Given the description of an element on the screen output the (x, y) to click on. 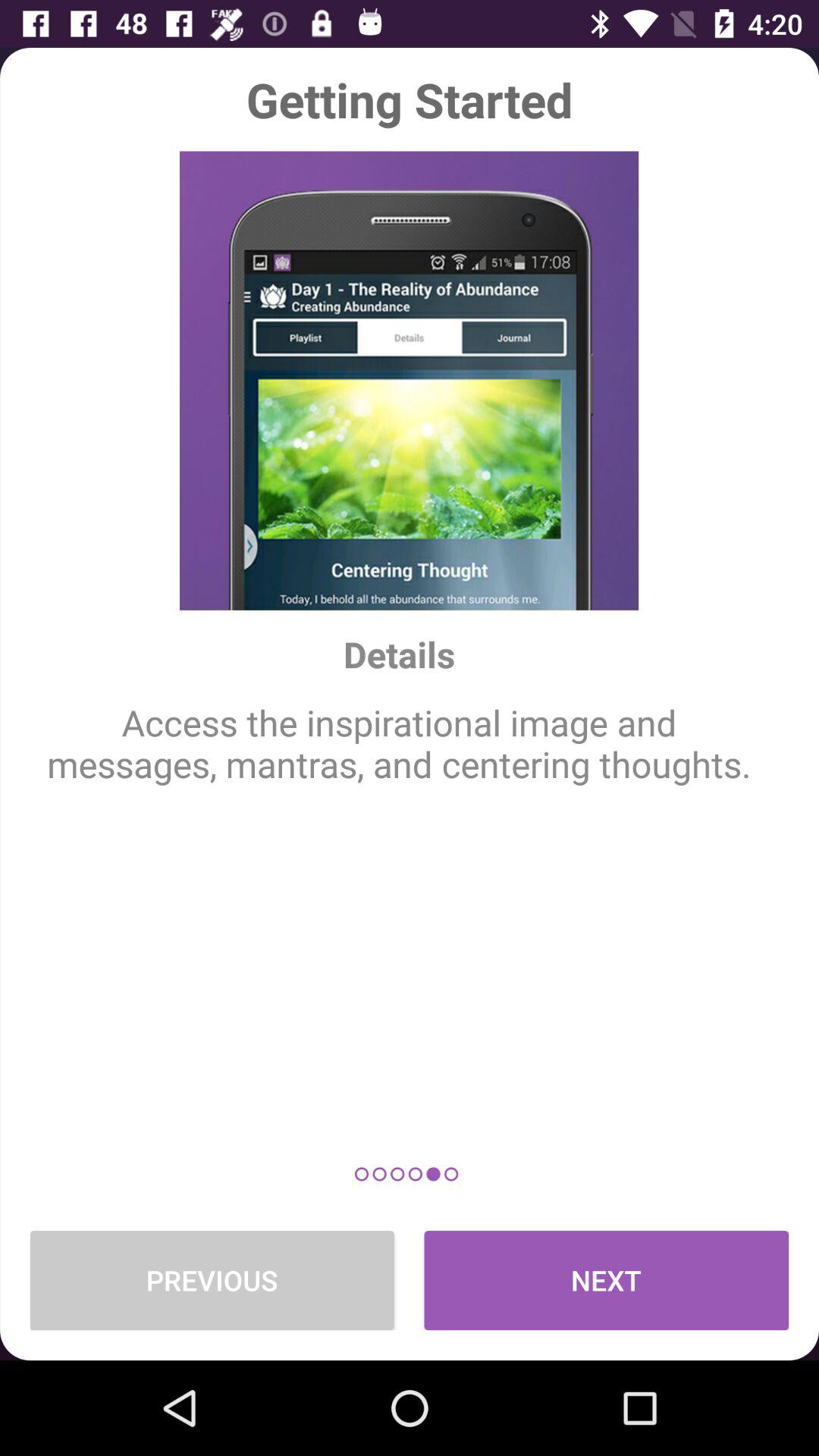
choose the next (606, 1280)
